Given the description of an element on the screen output the (x, y) to click on. 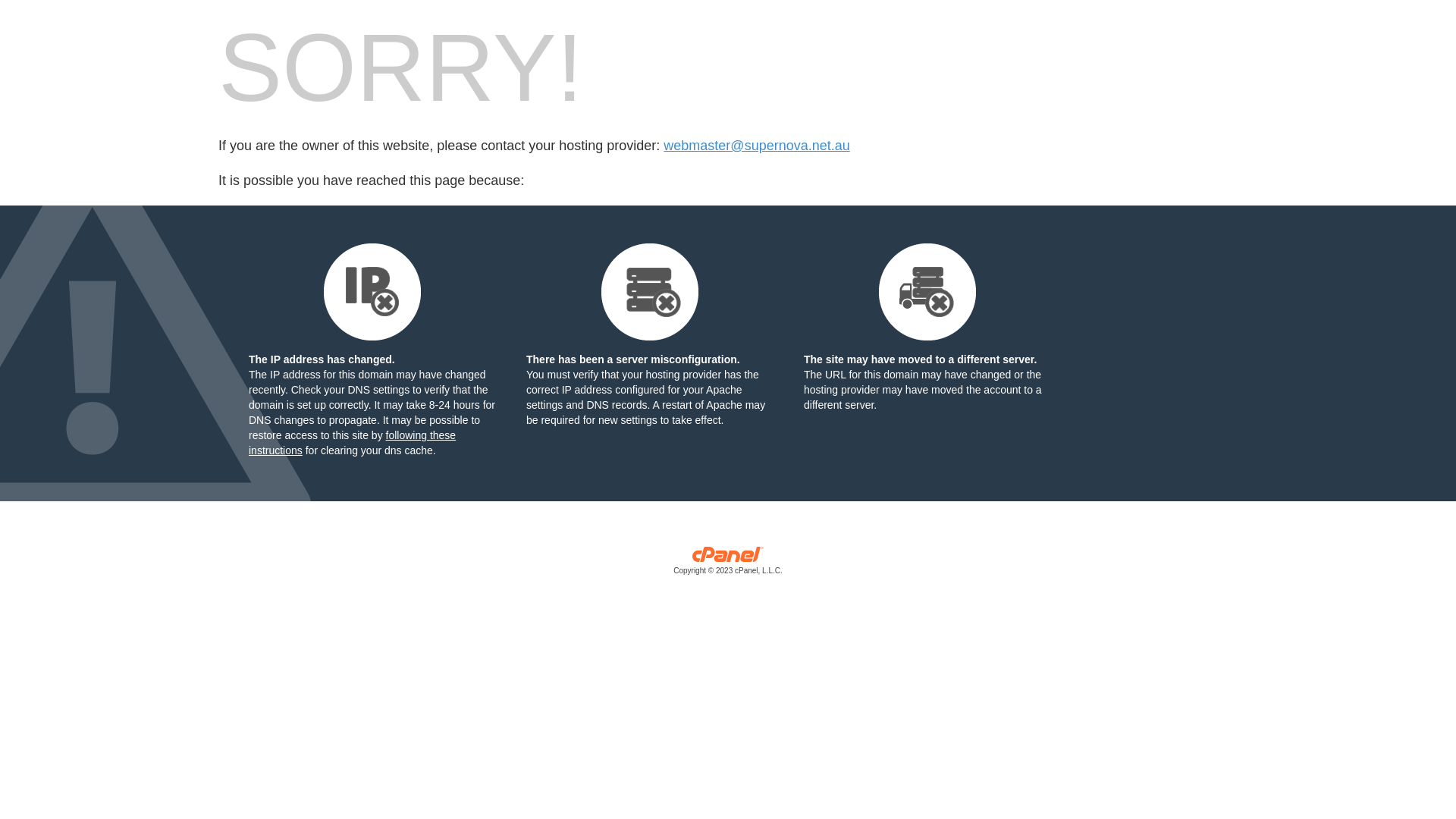
following these instructions Element type: text (351, 442)
webmaster@supernova.net.au Element type: text (756, 145)
